Given the description of an element on the screen output the (x, y) to click on. 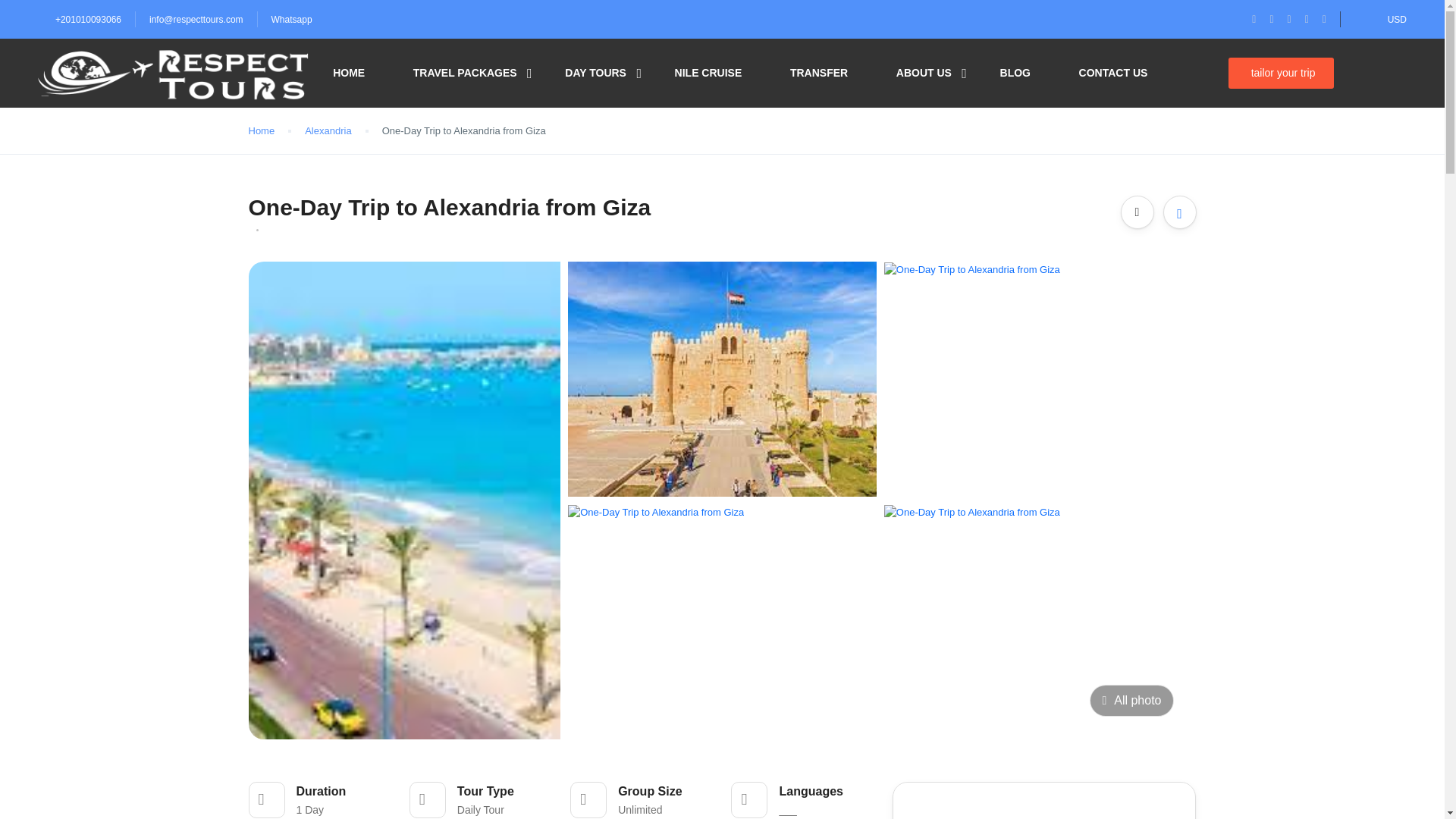
HOME (349, 72)
DAY TOURS (595, 72)
Add to wishlist (1179, 212)
ABOUT US (924, 72)
TRAVEL PACKAGES (464, 72)
USD (1396, 19)
NILE CRUISE (708, 72)
TRANSFER (818, 72)
Whatsapp (291, 19)
